Given the description of an element on the screen output the (x, y) to click on. 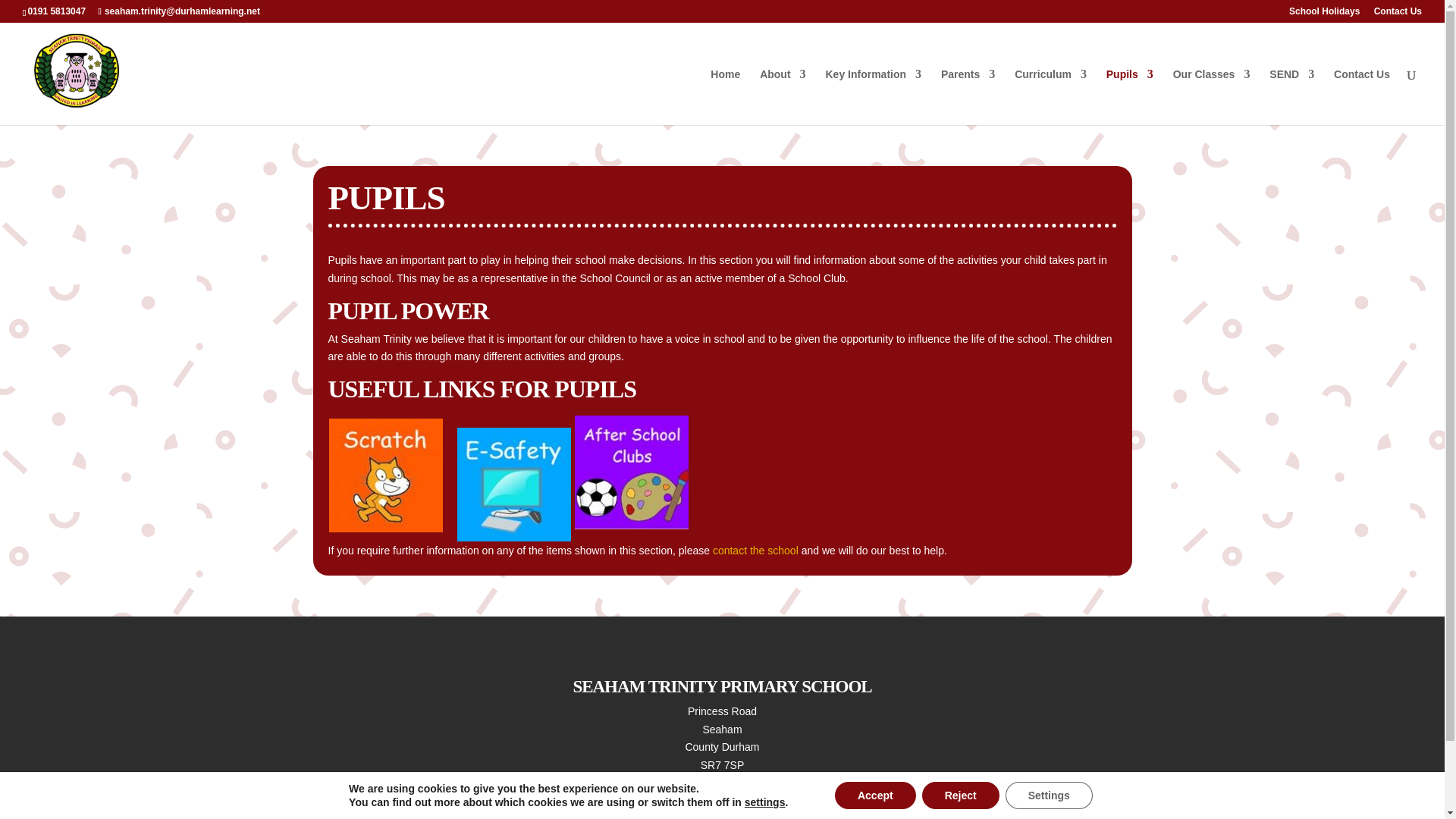
Parents (967, 96)
Contact Us (757, 550)
Contact Us (1398, 14)
School Holidays (1323, 14)
Key Information (873, 96)
Curriculum (1050, 96)
